Given the description of an element on the screen output the (x, y) to click on. 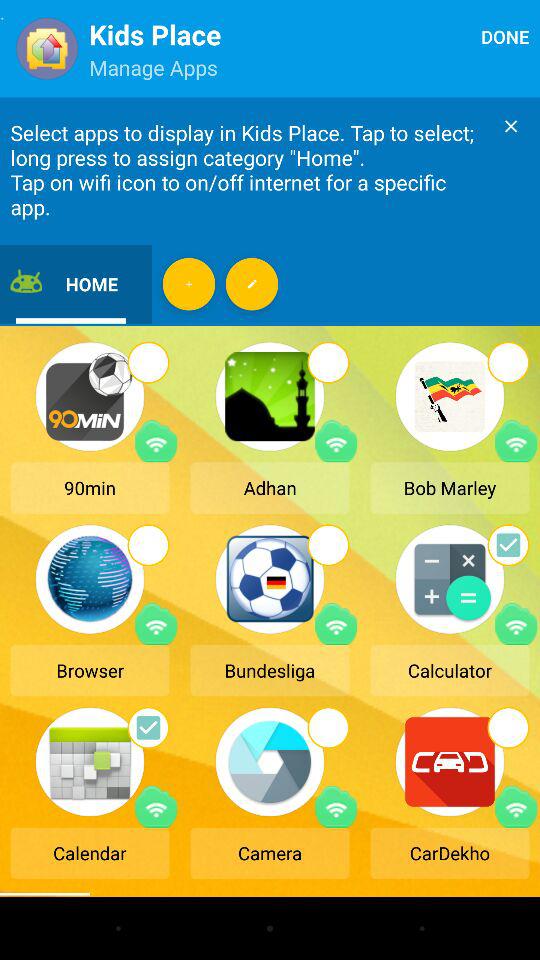
turn on or off the internet for this app (336, 441)
